Given the description of an element on the screen output the (x, y) to click on. 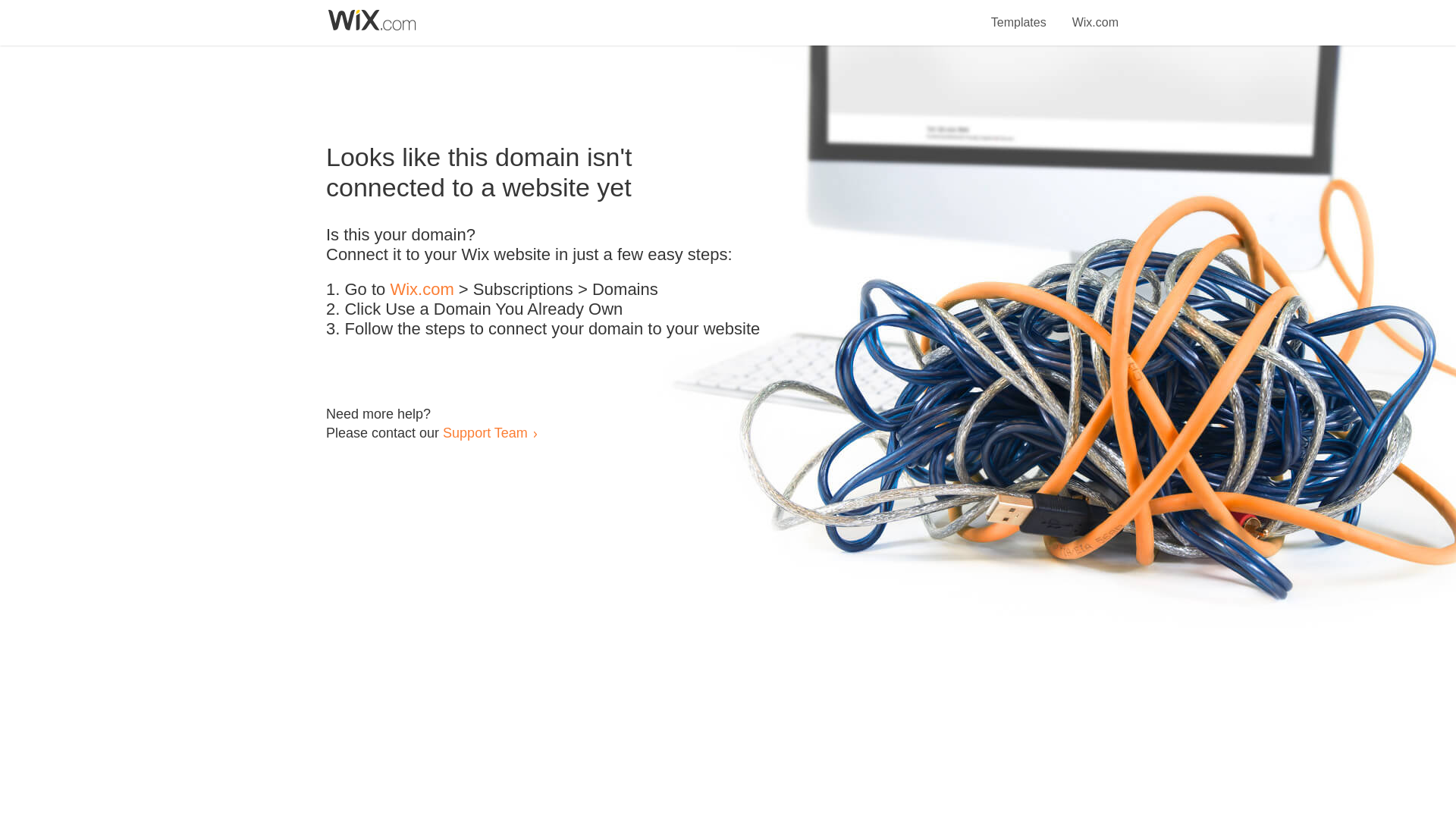
Support Team (484, 432)
Templates (1018, 14)
Wix.com (421, 289)
Wix.com (1095, 14)
